Given the description of an element on the screen output the (x, y) to click on. 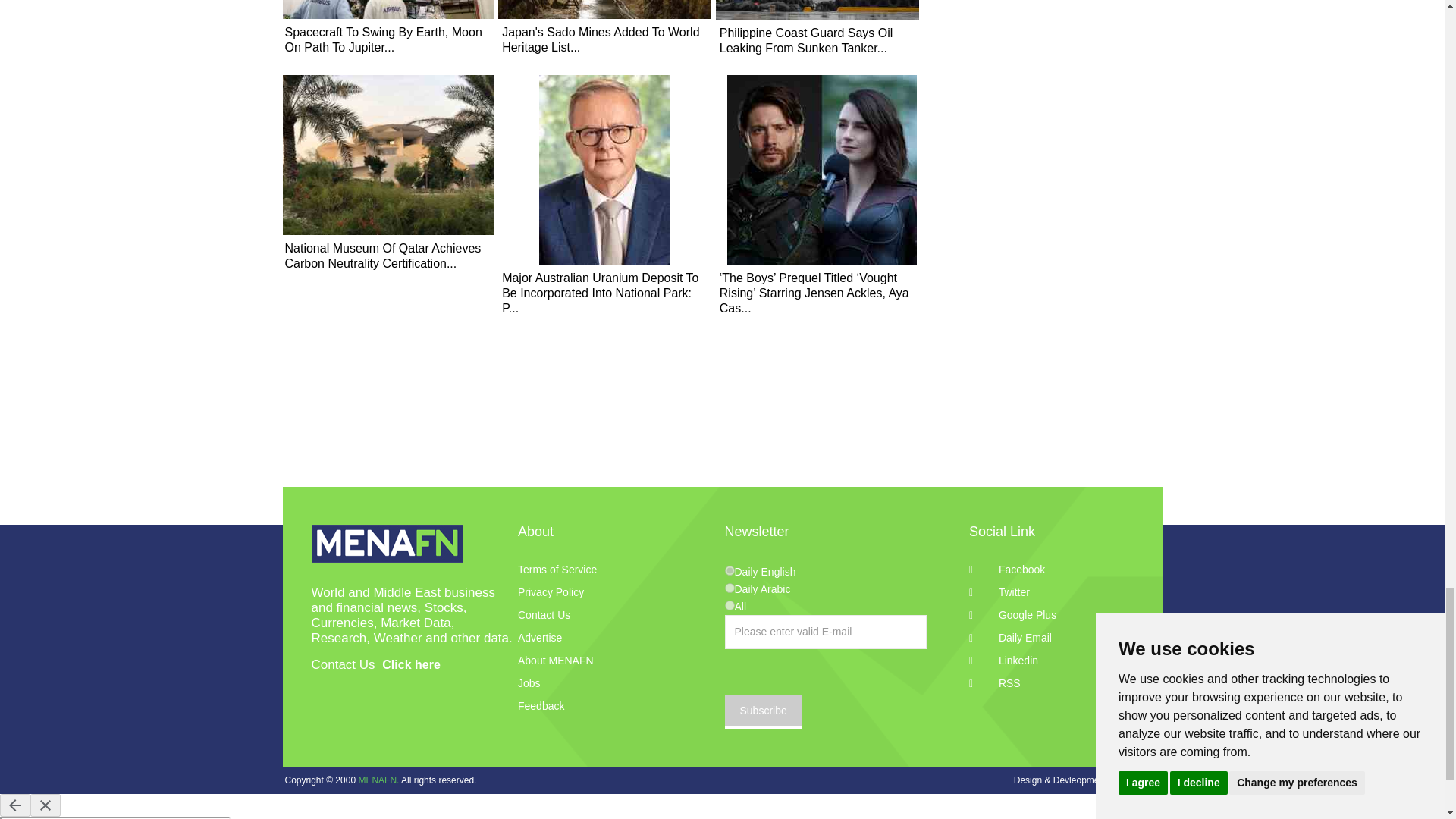
Advertisement (1047, 71)
Subscribe (763, 711)
